Given the description of an element on the screen output the (x, y) to click on. 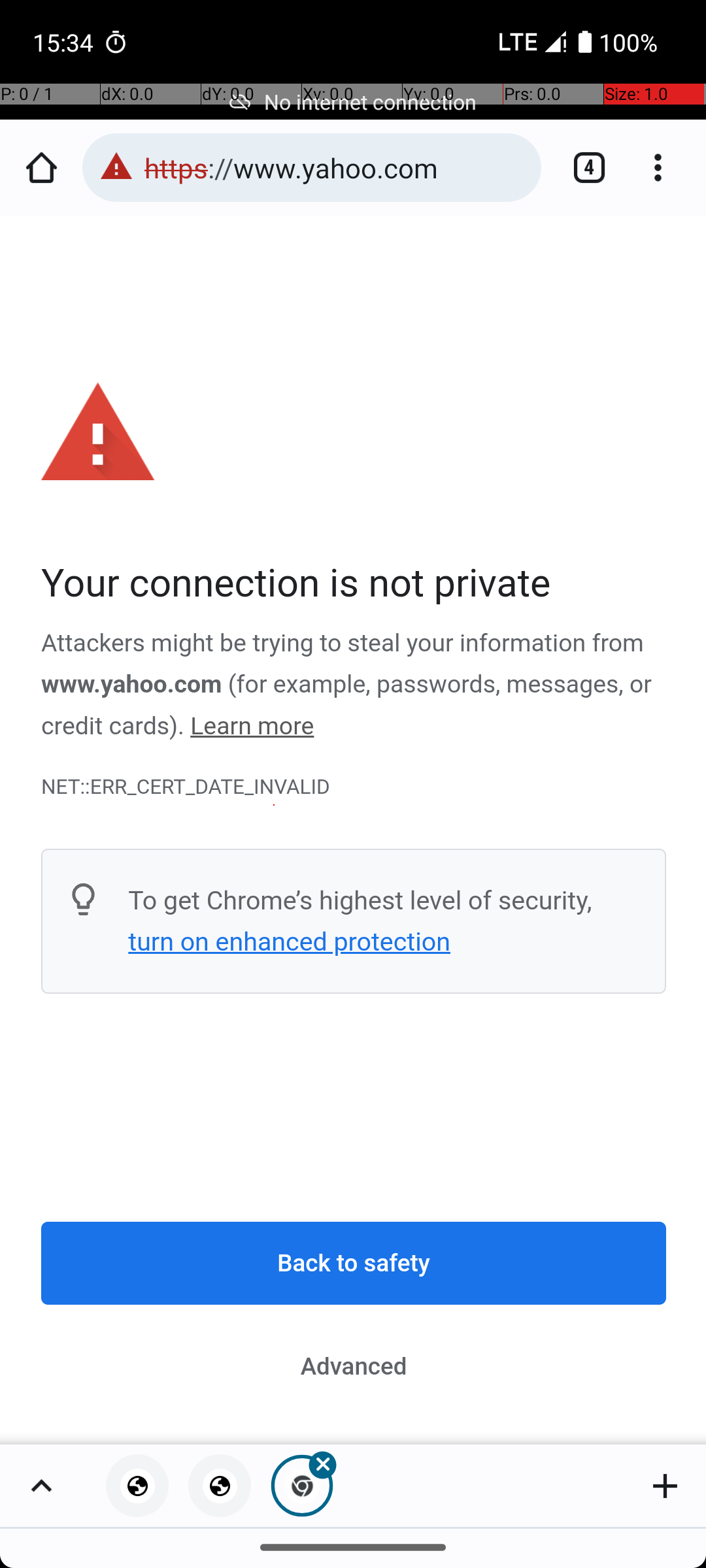
Show group's tabs in fullscreen grid Element type: android.widget.ImageView (41, 1485)
Add new tab to group Element type: android.widget.ImageView (664, 1485)
https://www.yahoo.com Element type: android.widget.EditText (335, 167)
Privacy error, tab Element type: android.widget.ImageButton (137, 1485)
, tab Element type: android.widget.ImageButton (219, 1485)
Close New tab tab Element type: android.widget.ImageButton (301, 1485)
www.yahoo.com Element type: android.widget.TextView (131, 684)
